Given the description of an element on the screen output the (x, y) to click on. 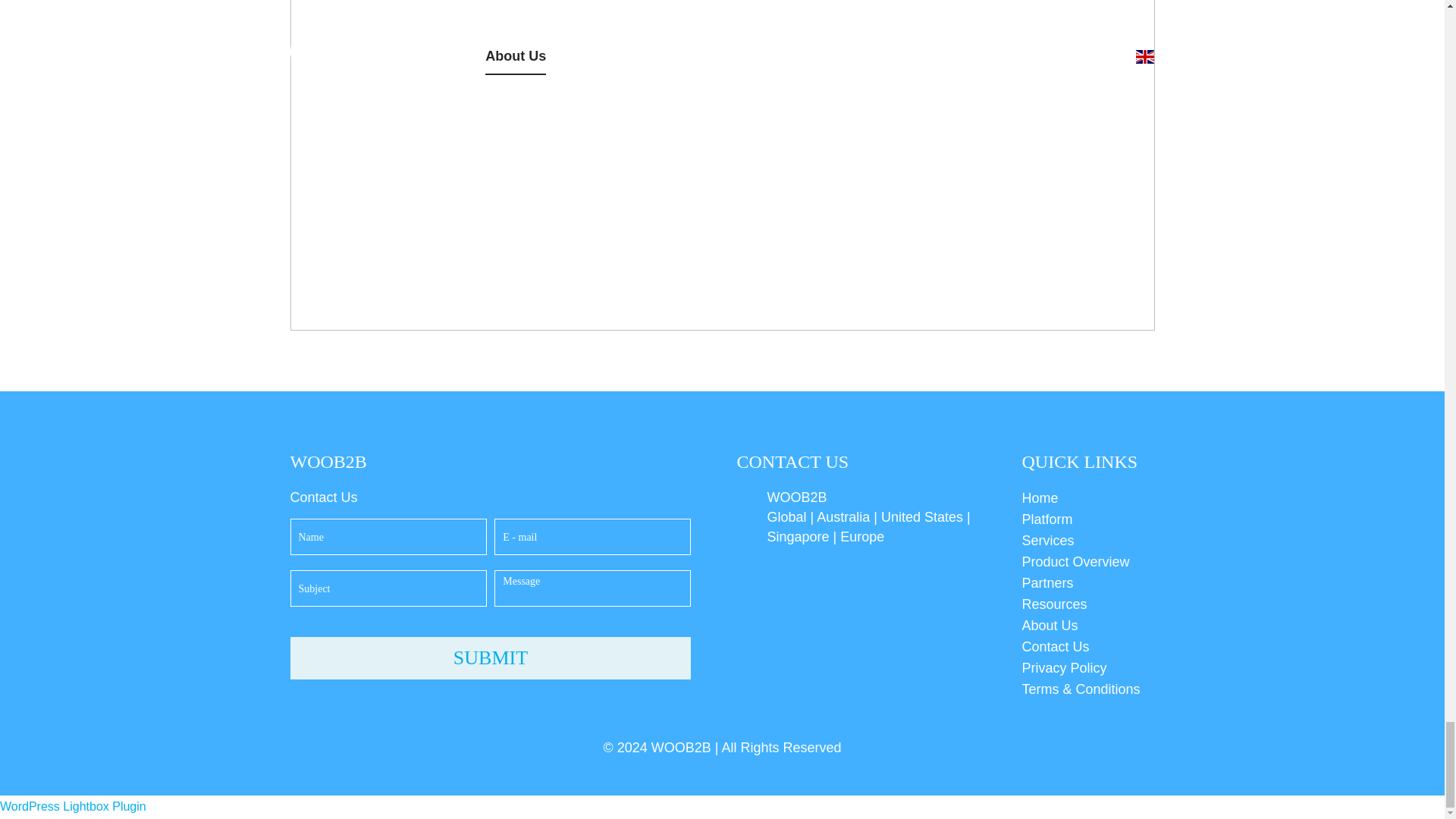
WordPress Lightbox Plugin (73, 806)
Privacy Policy (1088, 667)
Services (1088, 540)
Platform (1088, 518)
Partners (1088, 582)
Home (1088, 497)
WordPress Lightbox Plugin (73, 806)
Product Overview (1088, 561)
SUBMIT (489, 658)
Contact Us (1088, 646)
Resources (1088, 604)
About Us (1088, 625)
